Given the description of an element on the screen output the (x, y) to click on. 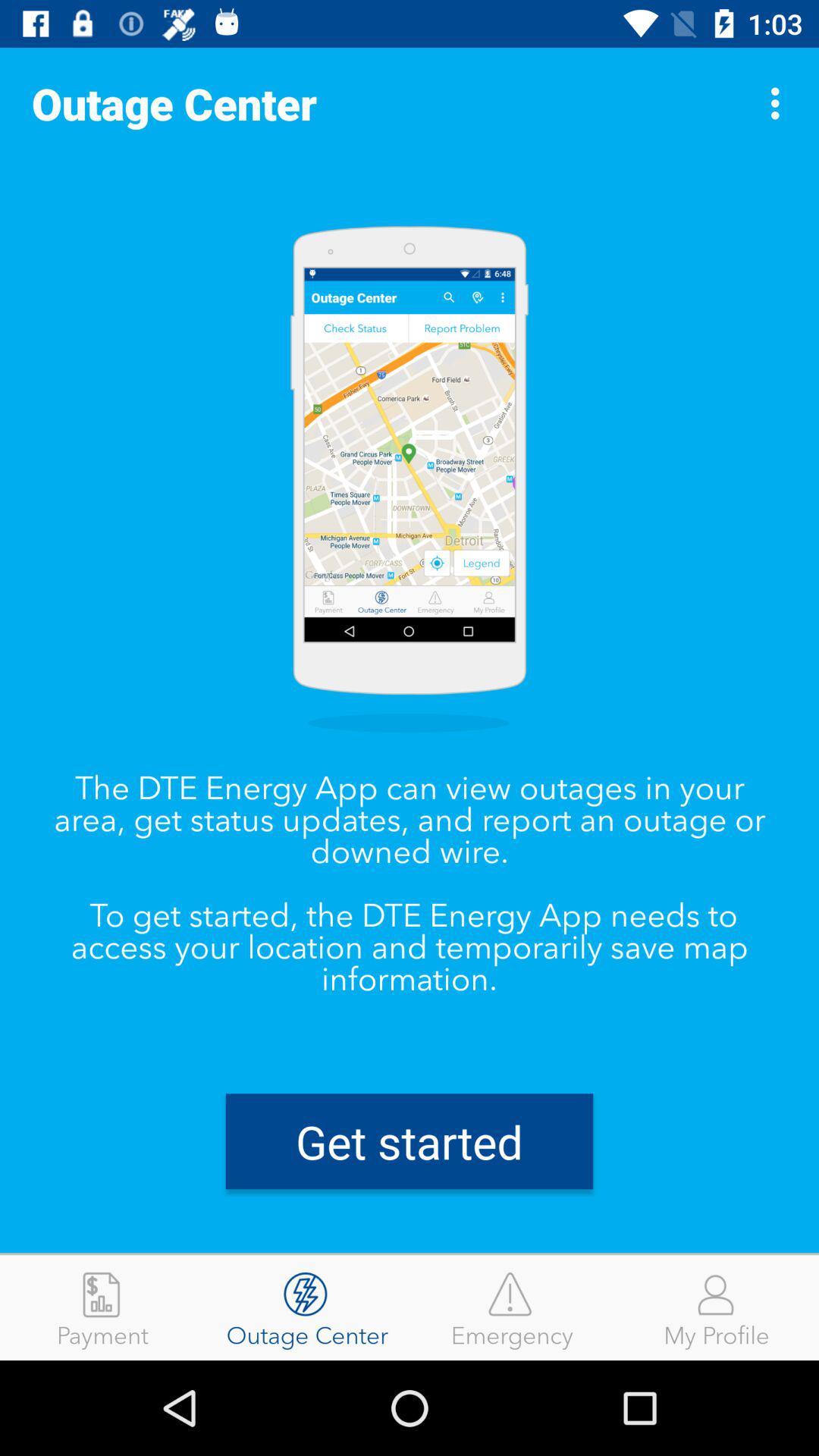
turn off icon to the right of emergency item (716, 1307)
